Given the description of an element on the screen output the (x, y) to click on. 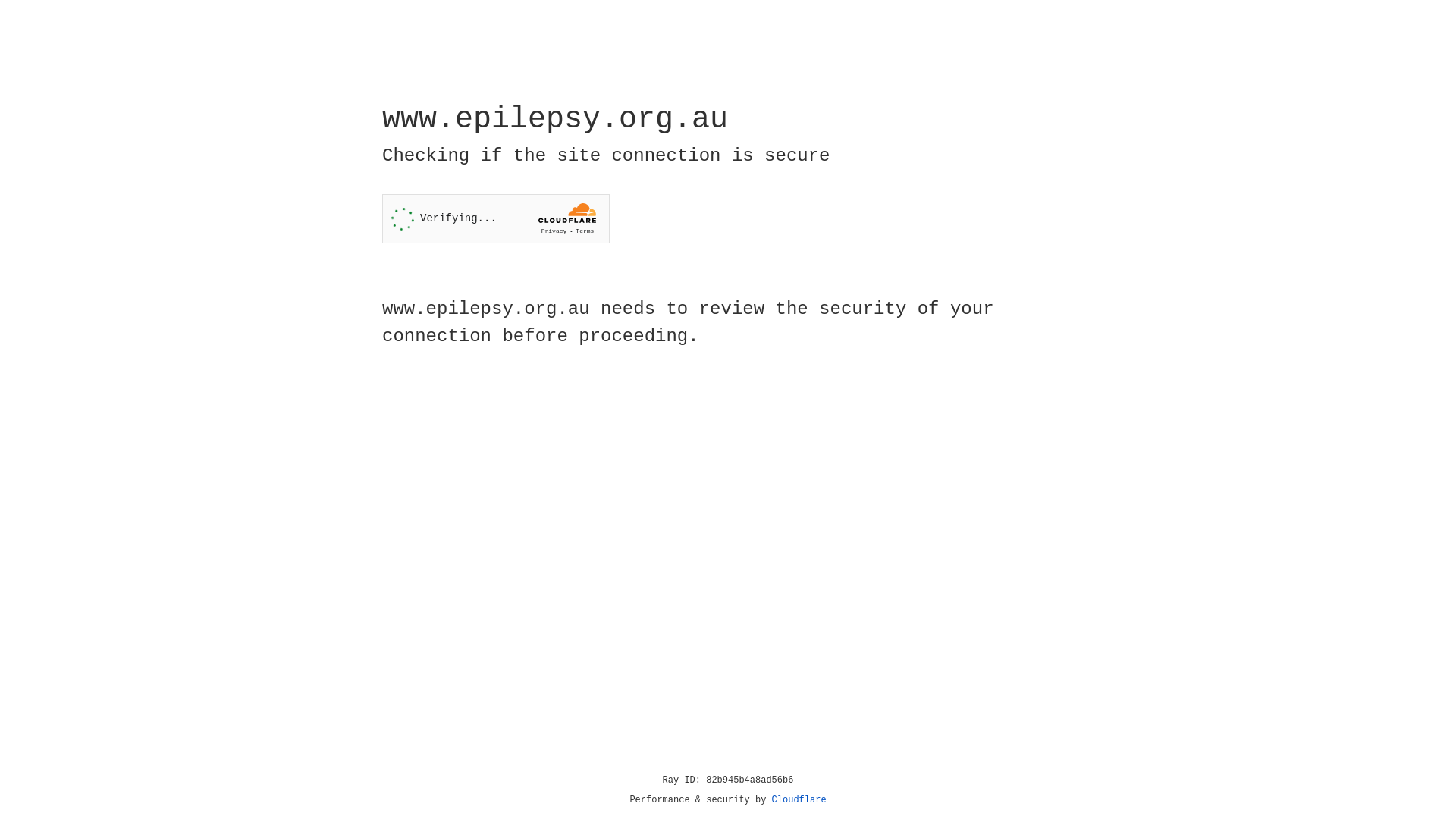
Widget containing a Cloudflare security challenge Element type: hover (495, 218)
Cloudflare Element type: text (798, 799)
